Given the description of an element on the screen output the (x, y) to click on. 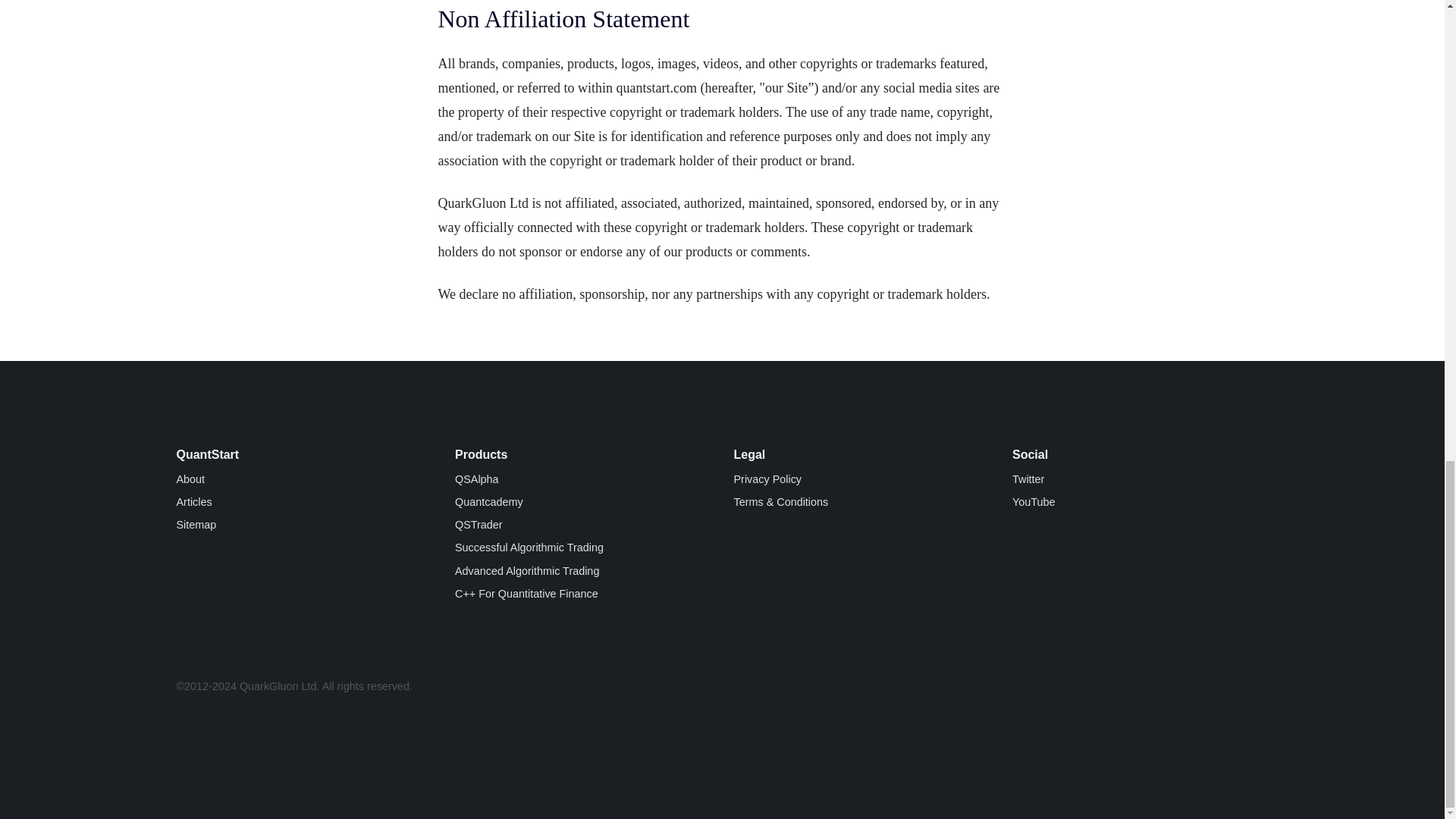
Quantcademy (488, 501)
Privacy Policy (767, 479)
QSAlpha (476, 479)
QSTrader (478, 524)
Sitemap (195, 524)
Advanced Algorithmic Trading (526, 571)
YouTube (1033, 501)
Successful Algorithmic Trading (529, 547)
Articles (193, 501)
Twitter (1027, 479)
About (190, 479)
